Given the description of an element on the screen output the (x, y) to click on. 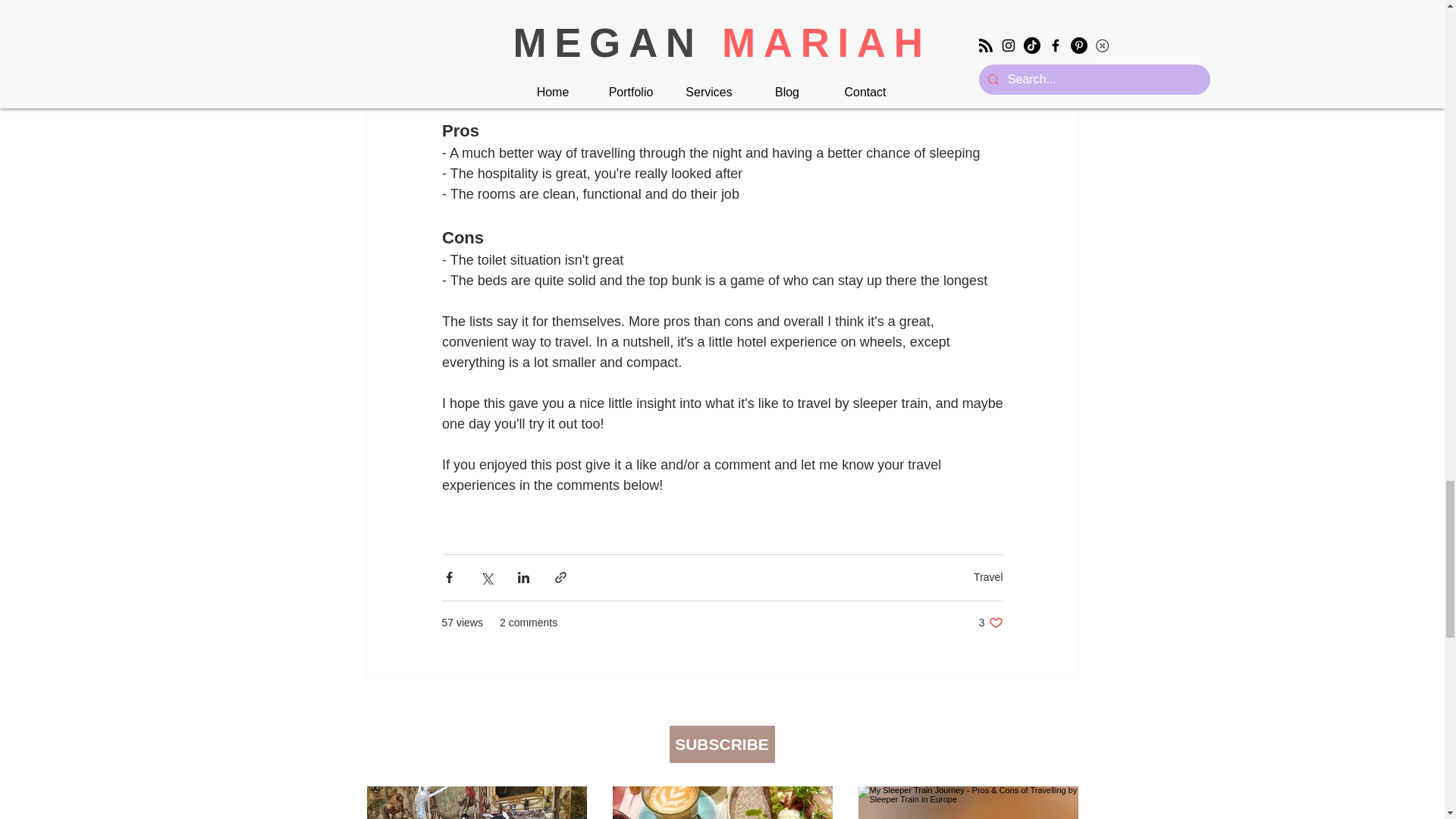
Travel (990, 622)
SUBSCRIBE (988, 576)
